Given the description of an element on the screen output the (x, y) to click on. 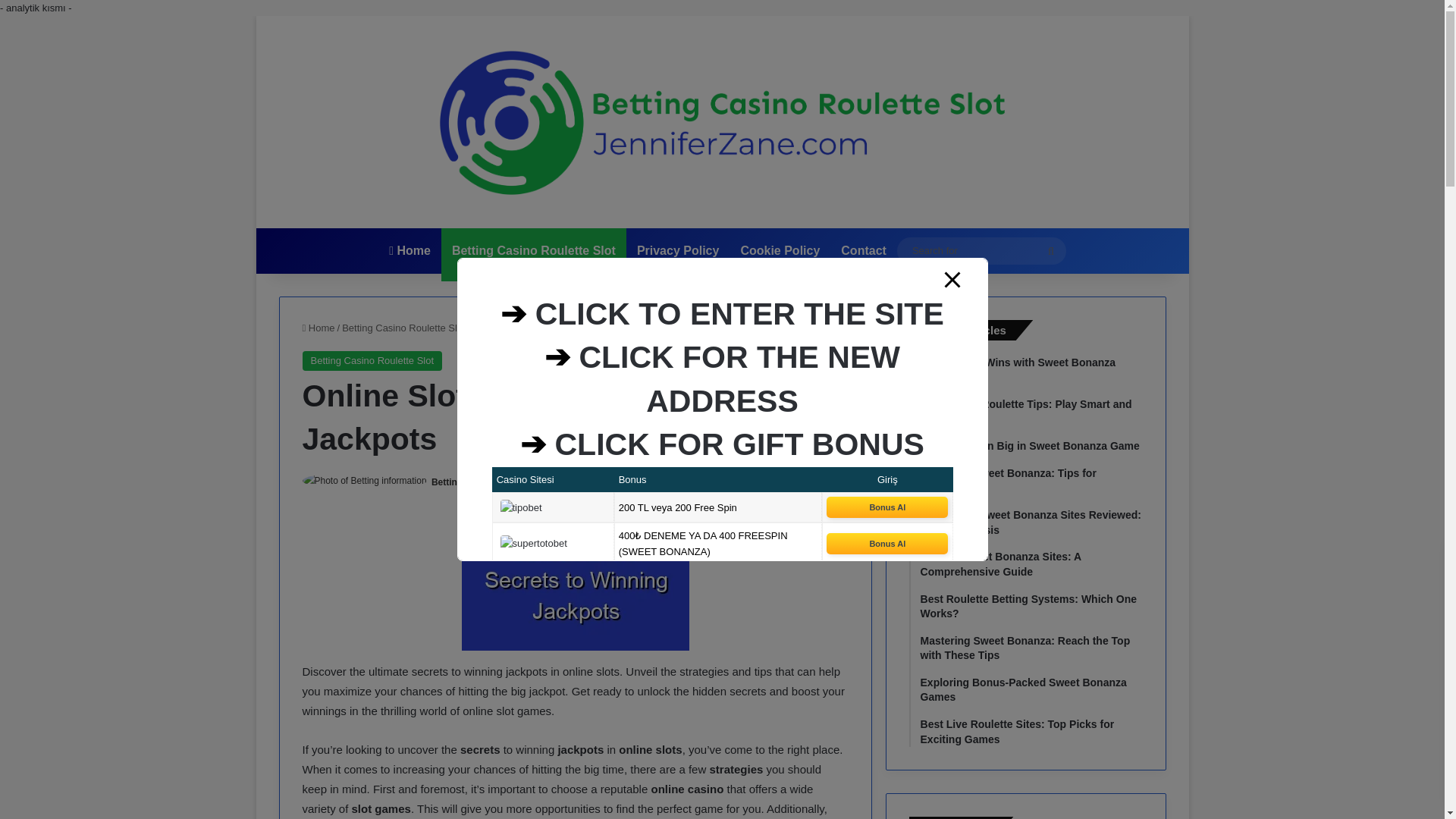
Home (409, 250)
Home (317, 327)
Search for (1050, 250)
Betting Casino Roulette Slot (403, 327)
Contact (862, 250)
Cookie Policy (779, 250)
Search for (980, 250)
Betting Casino Roulette Slot (533, 250)
Online Slots: Secrets to Winning Jackpots (574, 582)
Betting information (472, 481)
